Given the description of an element on the screen output the (x, y) to click on. 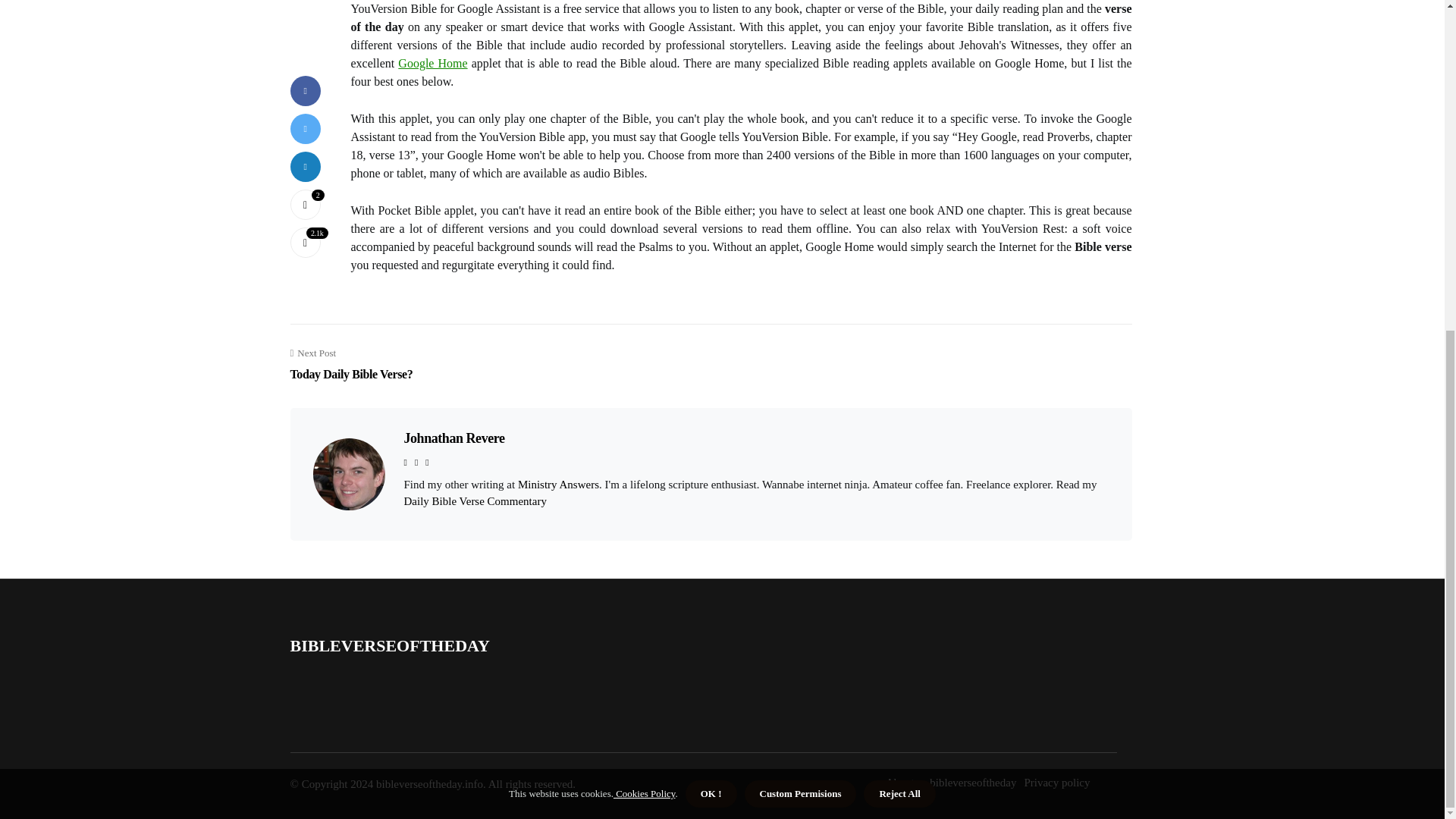
2 (304, 128)
Daily Bible Verse Commentary (474, 500)
Like (304, 128)
Johnathan Revere (453, 437)
Ministry Answers (558, 484)
Google Home (350, 364)
